Given the description of an element on the screen output the (x, y) to click on. 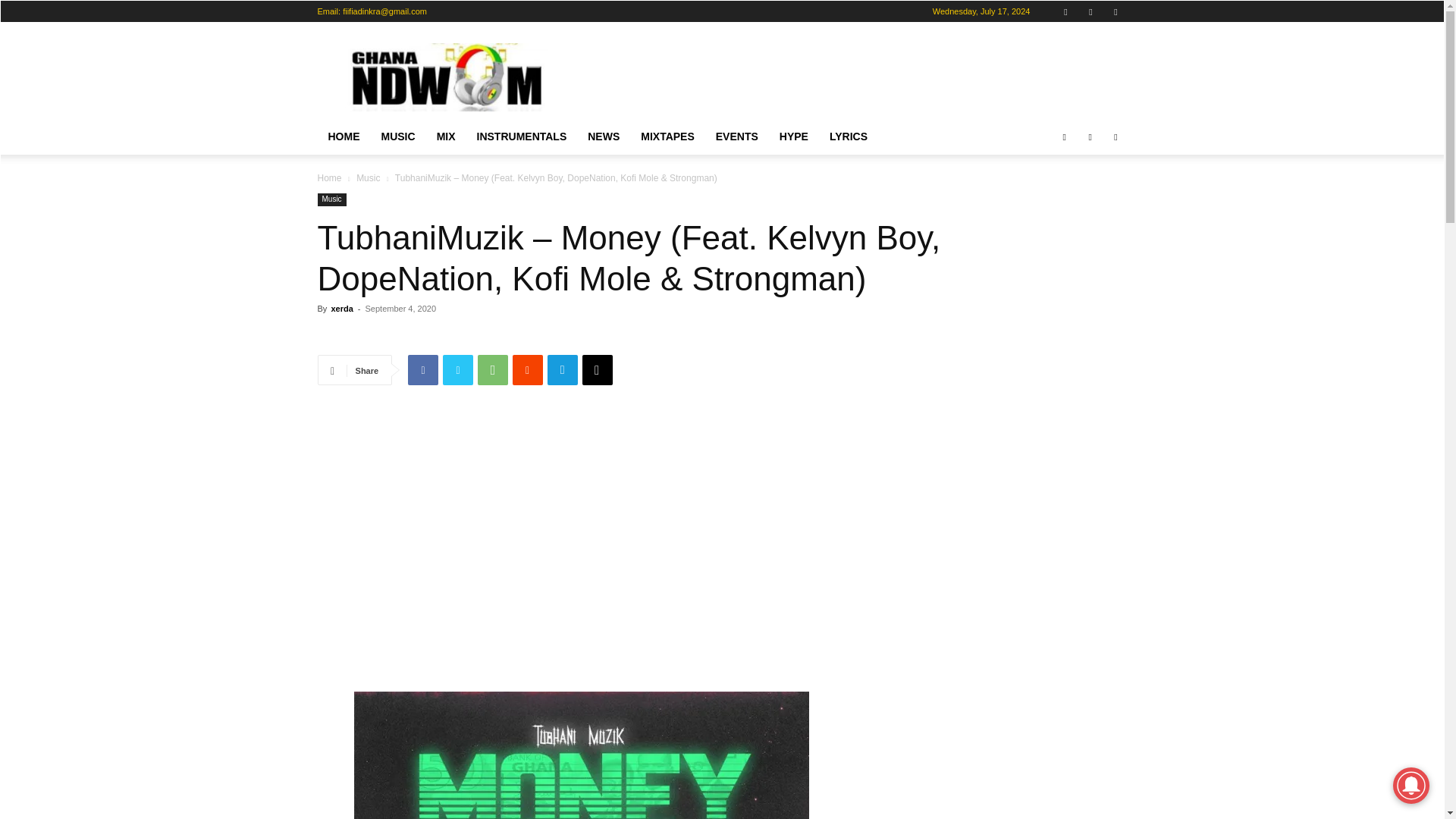
MUSIC (397, 135)
View all posts in Music (368, 177)
HYPE (793, 135)
EVENTS (736, 135)
INSTRUMENTALS (521, 135)
LYRICS (847, 135)
Advertisement (850, 77)
HOME (343, 135)
Mail (1090, 11)
WhatsApp (492, 369)
MIX (445, 135)
Facebook (1065, 11)
Twitter (1114, 11)
Home (328, 177)
ReddIt (527, 369)
